Given the description of an element on the screen output the (x, y) to click on. 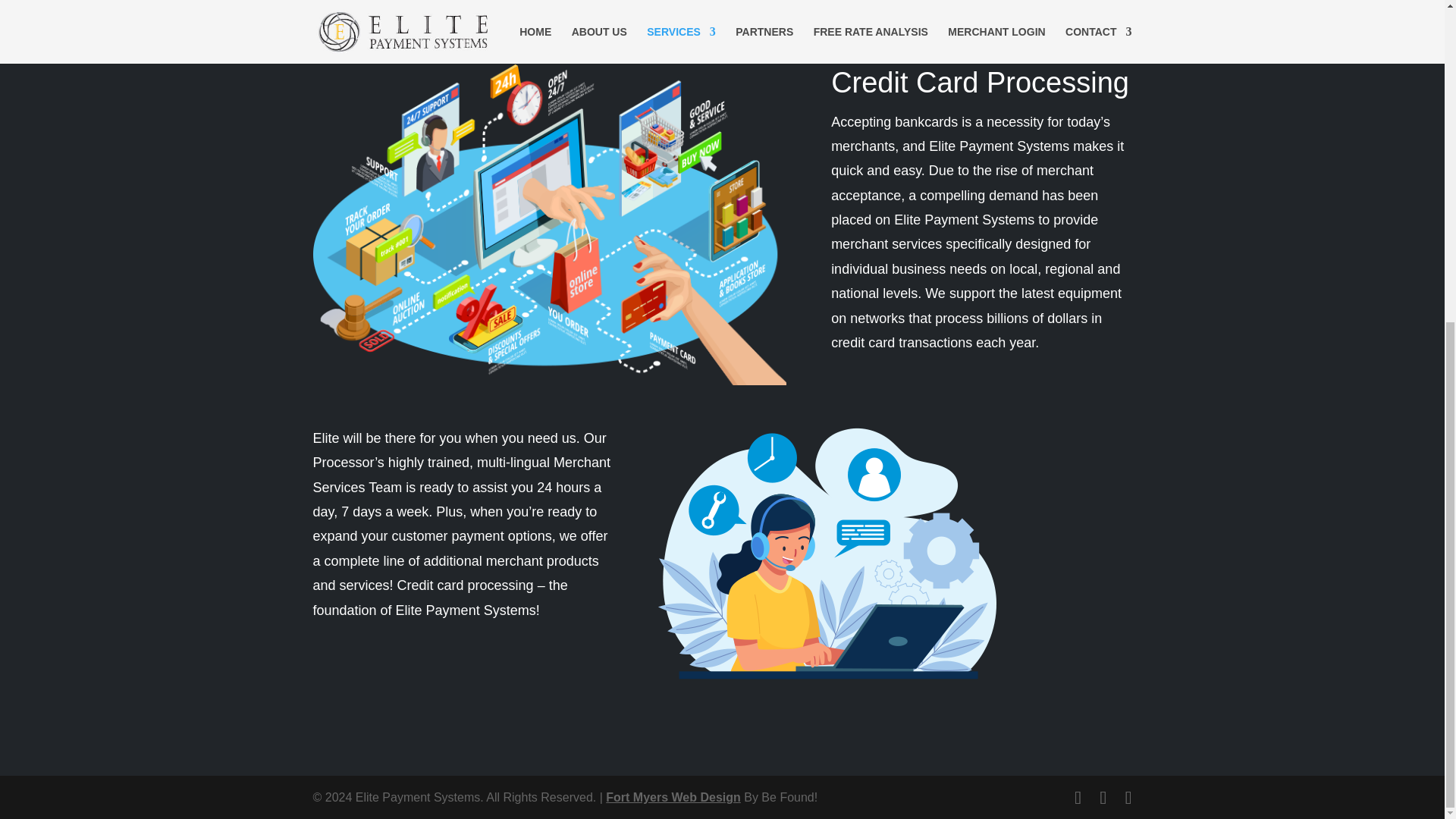
customer-service (837, 552)
